Given the description of an element on the screen output the (x, y) to click on. 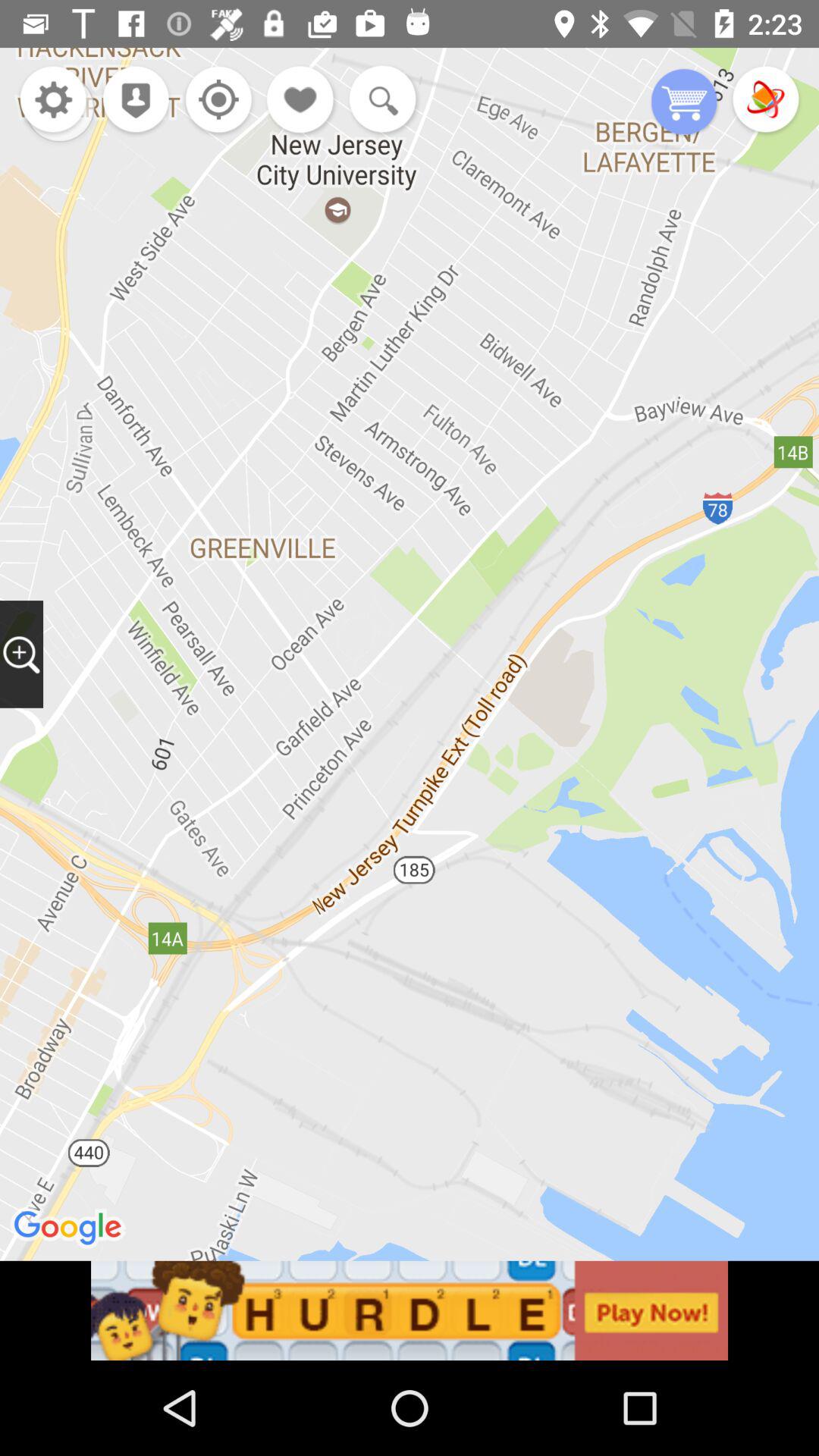
groceries (684, 102)
